Given the description of an element on the screen output the (x, y) to click on. 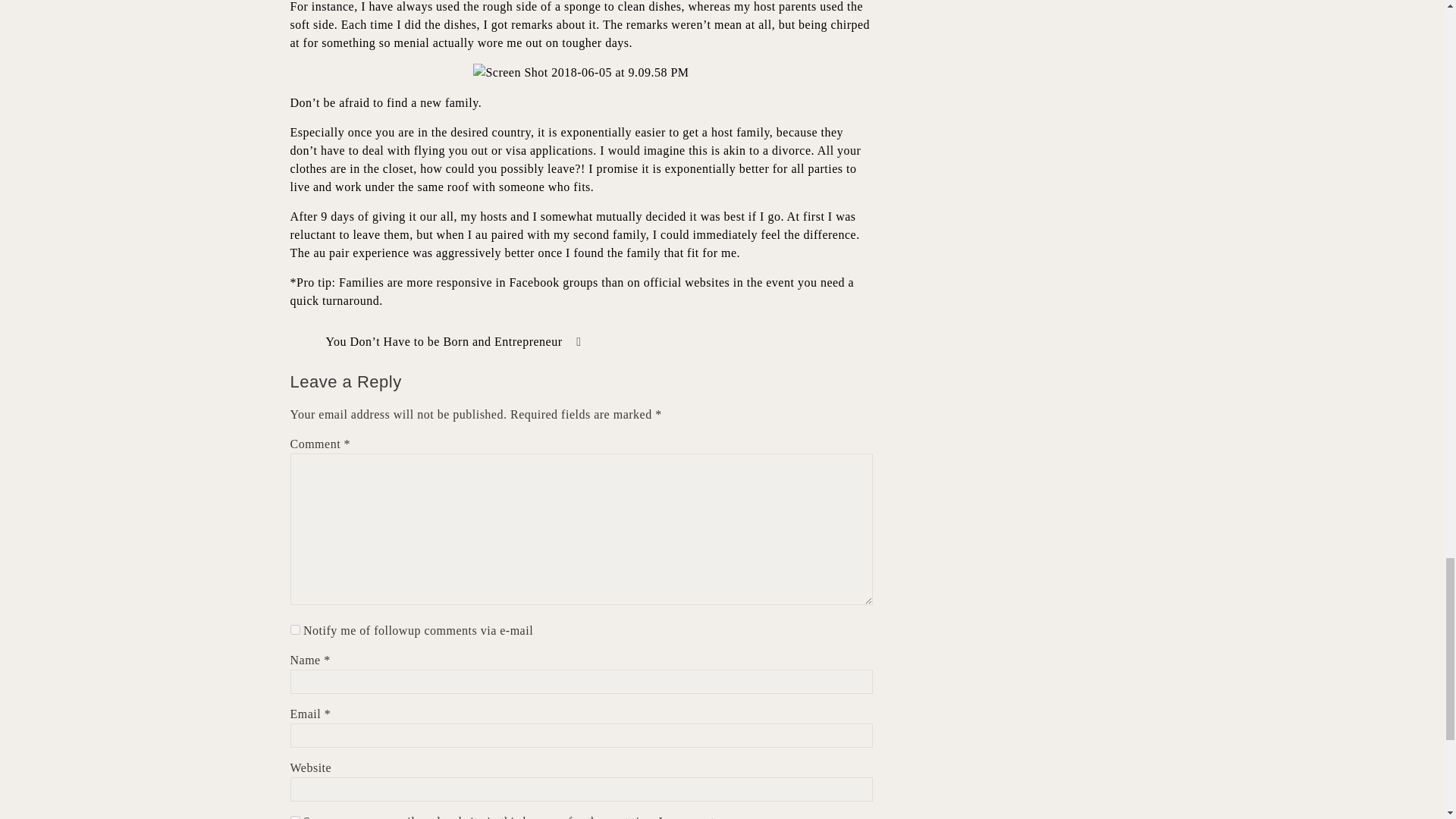
subscribe (294, 629)
yes (294, 817)
